Given the description of an element on the screen output the (x, y) to click on. 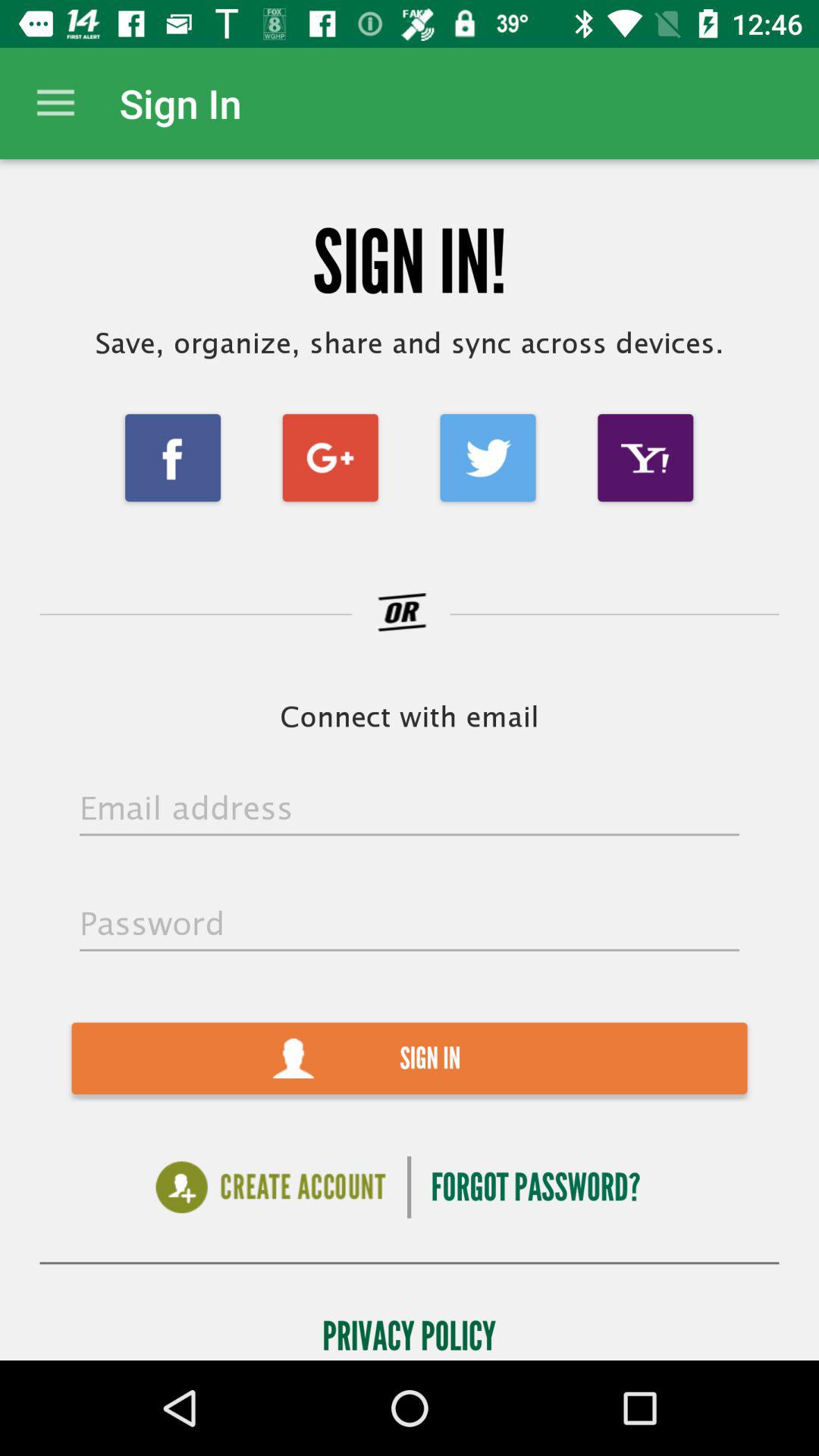
turn on the icon above the sign in item (409, 924)
